Given the description of an element on the screen output the (x, y) to click on. 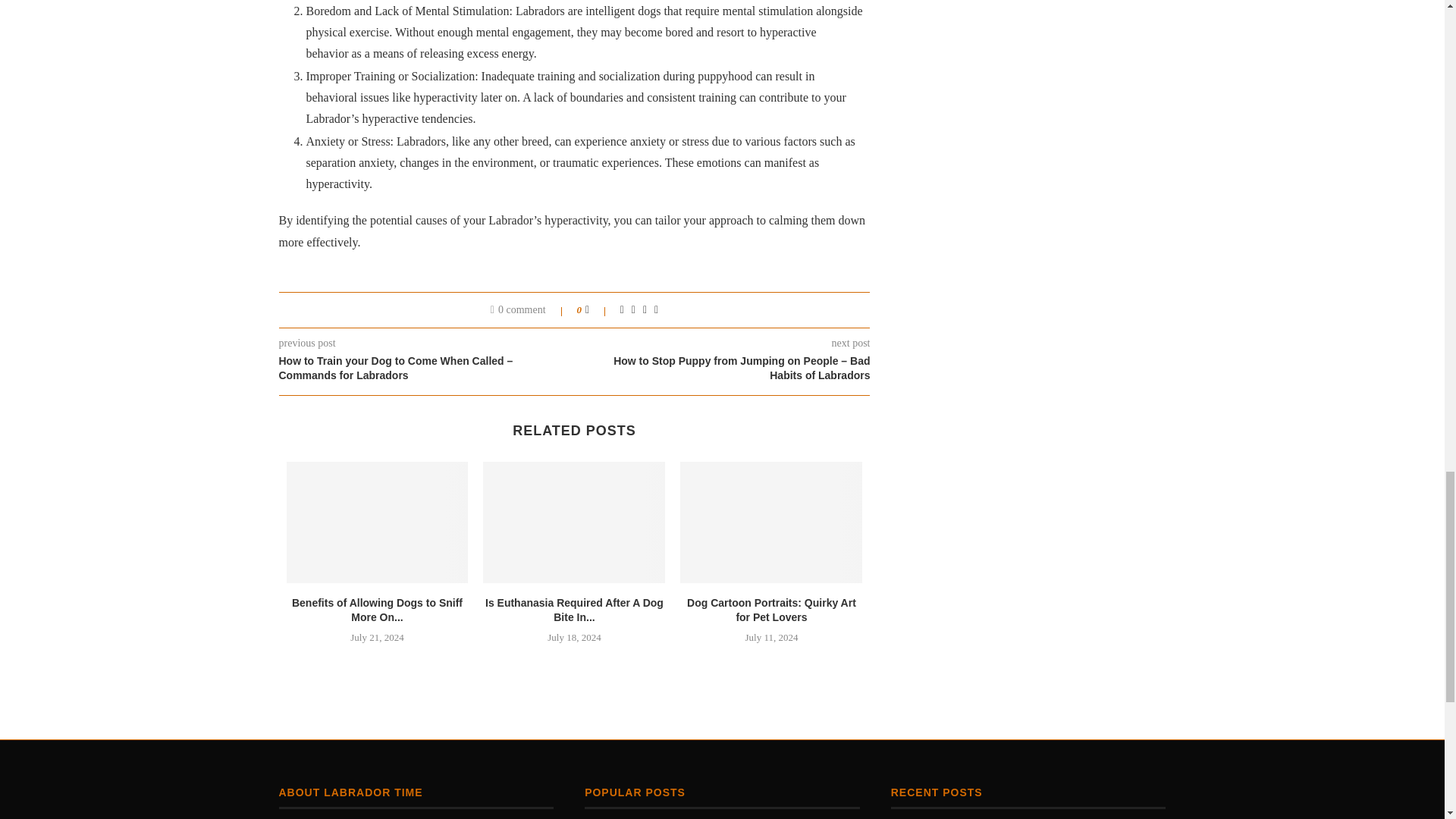
Is Euthanasia Required After A Dog Bite In... (573, 610)
Is Euthanasia Required After A Dog Bite In California? (574, 522)
Like (597, 309)
Dog Cartoon Portraits: Quirky Art for Pet Lovers (770, 522)
Dog Cartoon Portraits: Quirky Art for Pet Lovers (771, 610)
Benefits of Allowing Dogs to Sniff More On Walks? (377, 522)
Benefits of Allowing Dogs to Sniff More On... (377, 610)
